Given the description of an element on the screen output the (x, y) to click on. 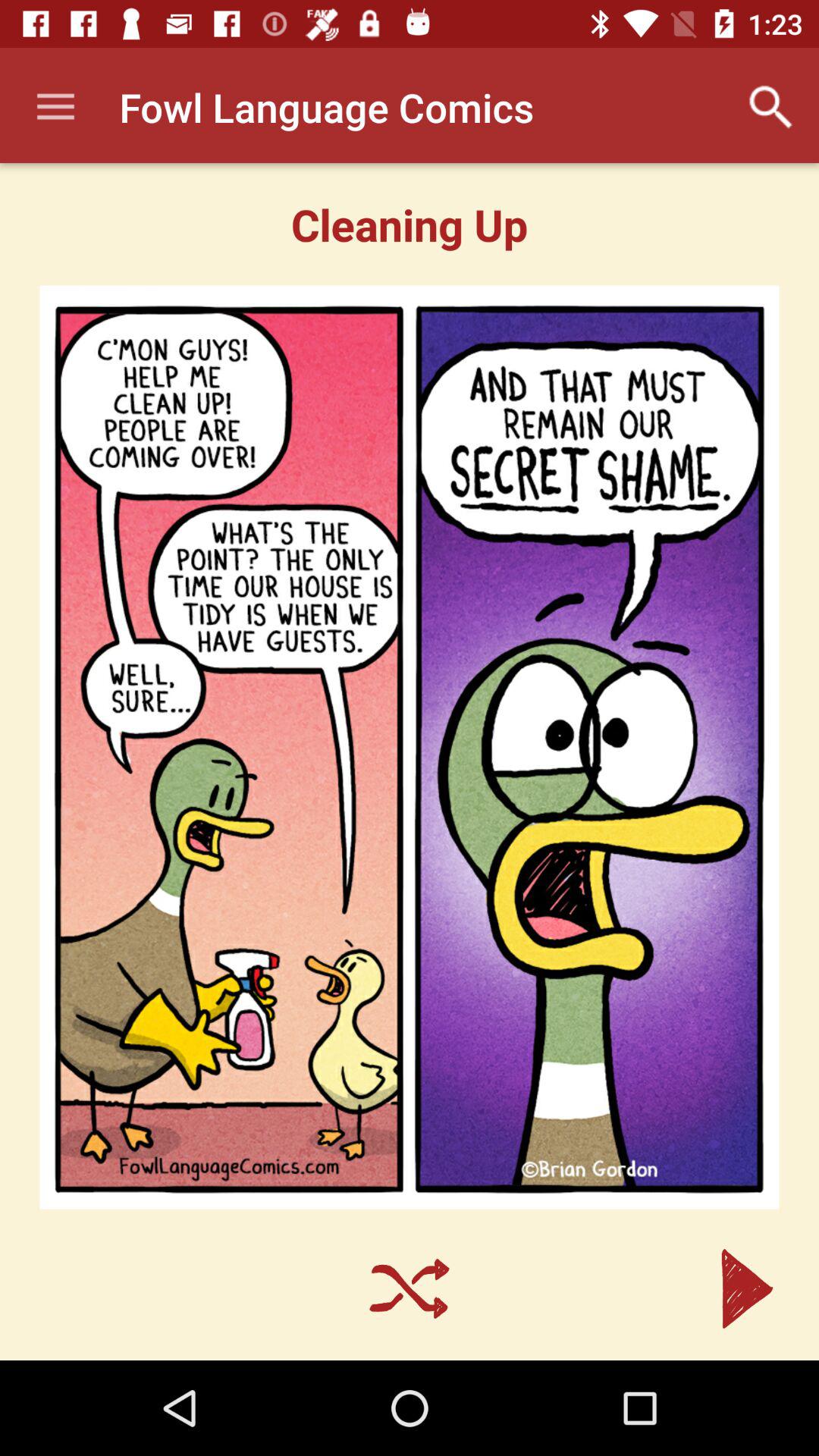
choose item at the top right corner (771, 107)
